Given the description of an element on the screen output the (x, y) to click on. 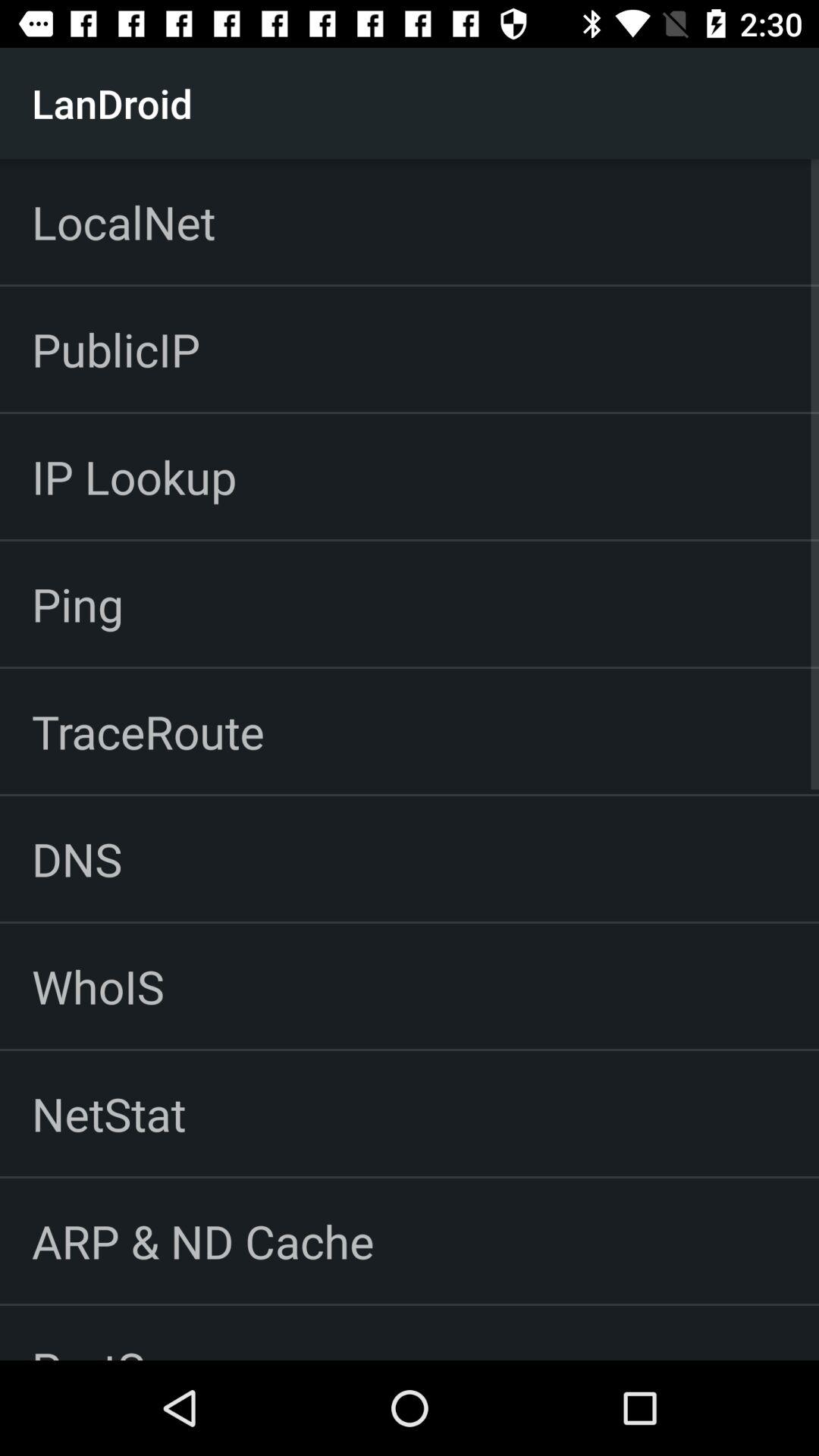
press the icon below the netstat item (203, 1240)
